Given the description of an element on the screen output the (x, y) to click on. 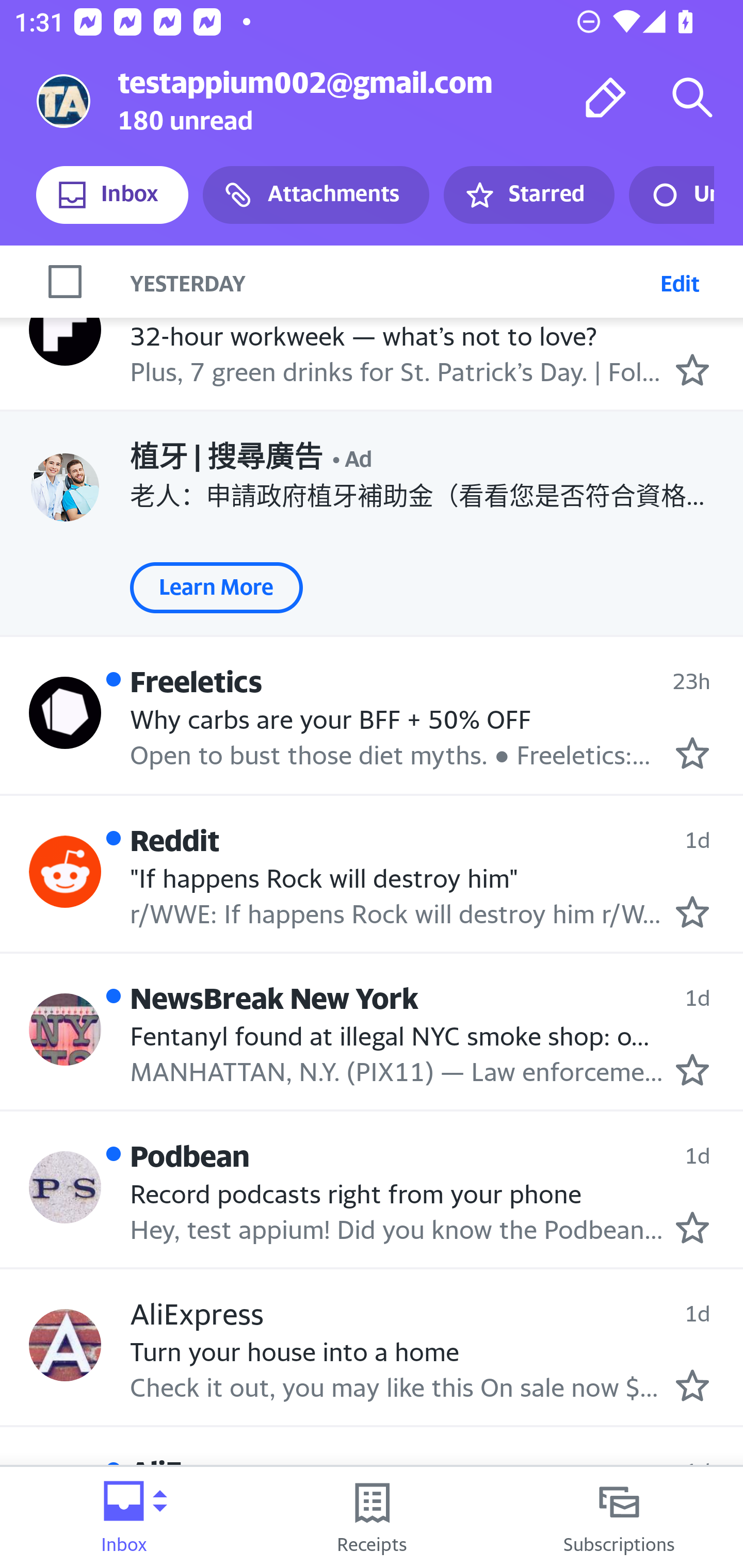
Compose (605, 97)
Search mail (692, 97)
Attachments (315, 195)
Starred (528, 195)
Mark as starred. (692, 369)
Profile
Freeletics (64, 713)
Mark as starred. (692, 753)
Profile
Reddit (64, 871)
Mark as starred. (692, 911)
Profile
NewsBreak New York (64, 1030)
Mark as starred. (692, 1070)
Profile
Podbean (64, 1186)
Mark as starred. (692, 1226)
Profile
AliExpress (64, 1345)
Mark as starred. (692, 1385)
Inbox Folder picker (123, 1517)
Receipts (371, 1517)
Subscriptions (619, 1517)
